Given the description of an element on the screen output the (x, y) to click on. 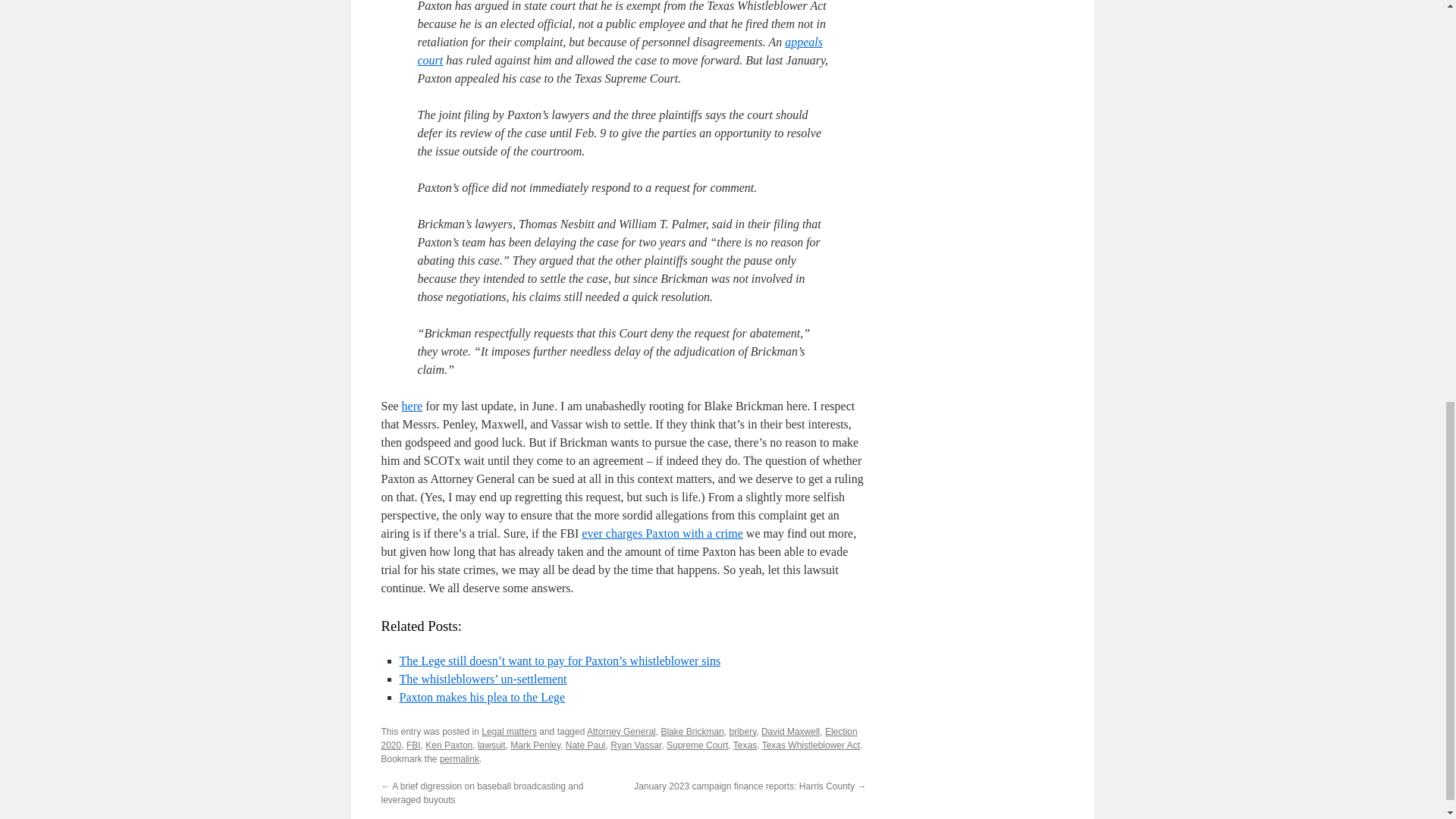
David Maxwell (790, 731)
ever charges Paxton with a crime (661, 533)
Texas (745, 745)
FBI (413, 745)
Nate Paul (585, 745)
Ken Paxton (448, 745)
lawsuit (491, 745)
Ryan Vassar (635, 745)
appeals court (619, 51)
Paxton makes his plea to the Lege (481, 697)
